Given the description of an element on the screen output the (x, y) to click on. 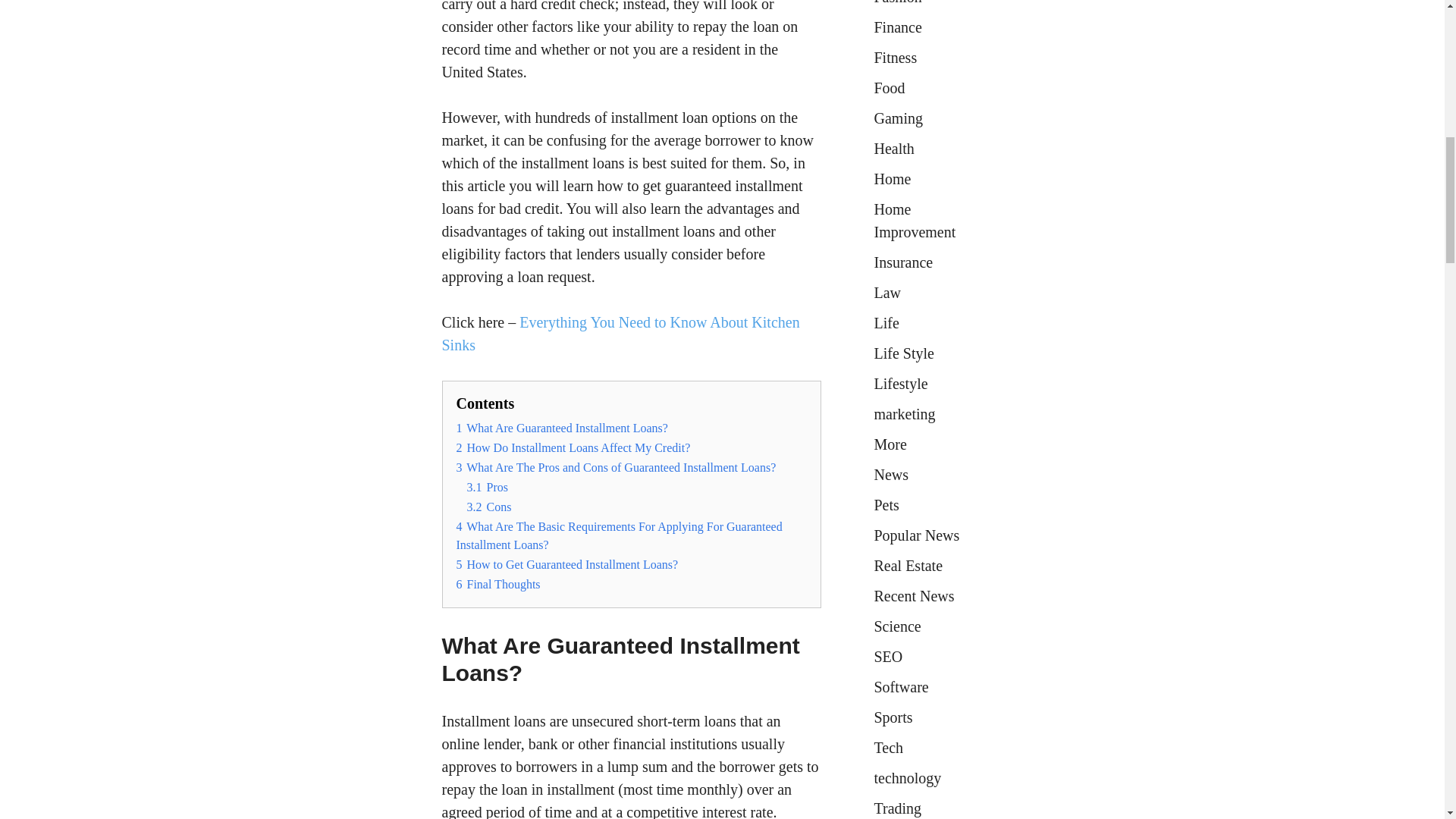
3.2 Cons (489, 506)
1 What Are Guaranteed Installment Loans? (562, 427)
3.1 Pros (487, 486)
Everything You Need to Know About Kitchen Sinks (620, 332)
6 Final Thoughts (498, 584)
5 How to Get Guaranteed Installment Loans? (567, 563)
2 How Do Installment Loans Affect My Credit? (573, 447)
